Given the description of an element on the screen output the (x, y) to click on. 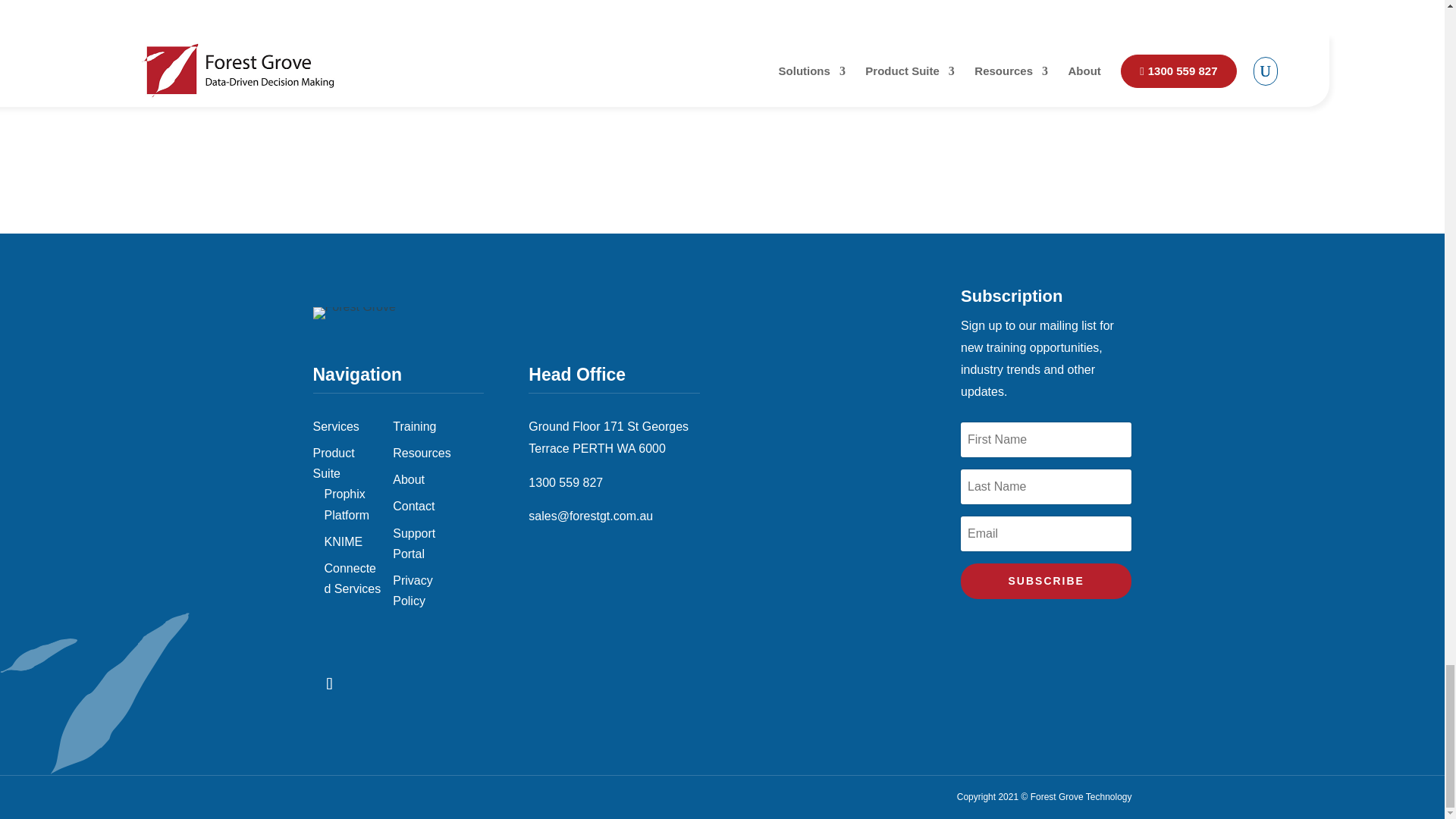
Prophix Platform (346, 503)
Follow on LinkedIn (329, 684)
Product Suite (333, 462)
Training (414, 426)
Services (335, 426)
About (409, 479)
Resources (421, 452)
Connected Services (352, 578)
KNIME (343, 541)
